Given the description of an element on the screen output the (x, y) to click on. 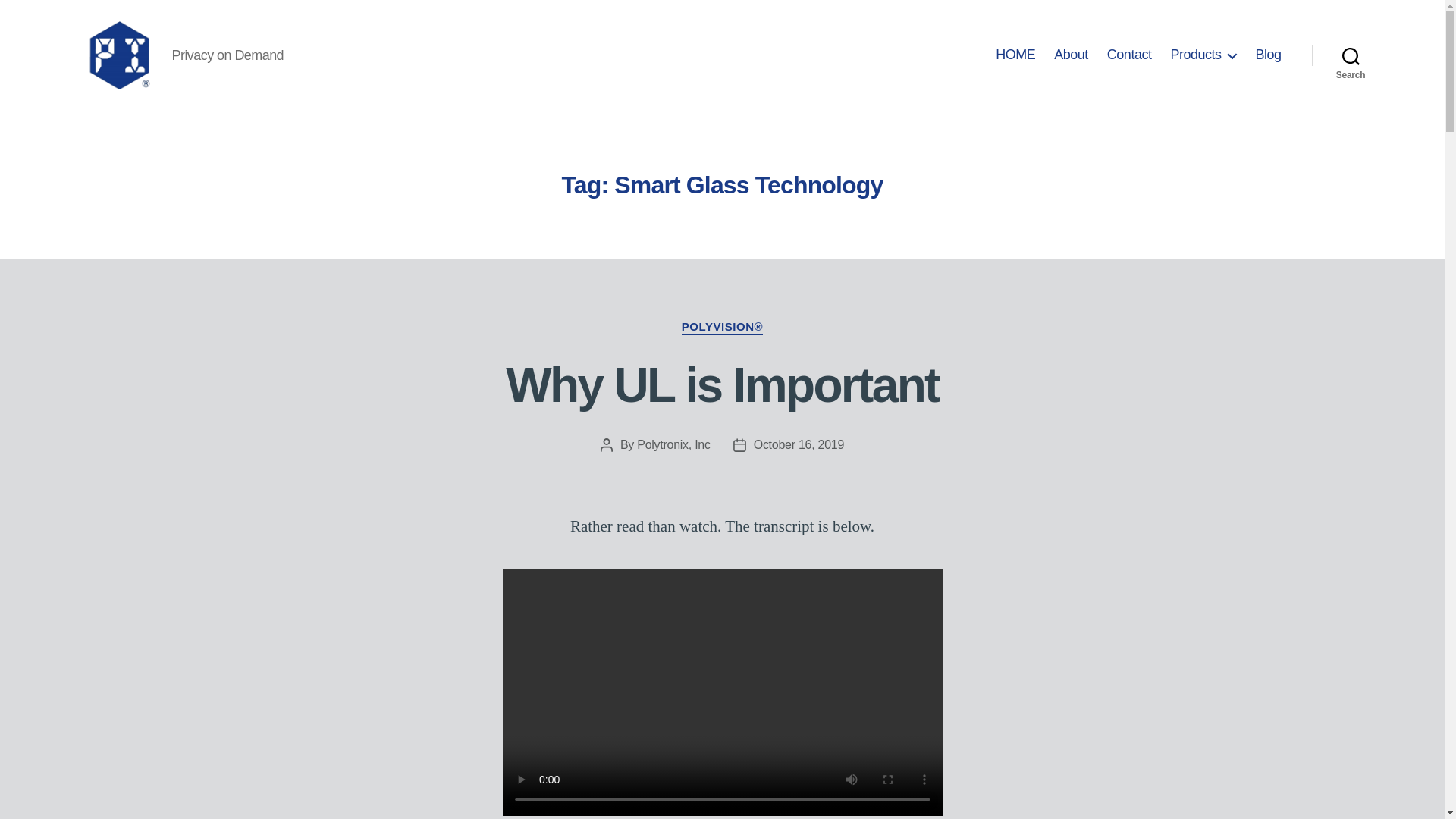
HOME (1015, 54)
October 16, 2019 (799, 444)
Blog (1268, 54)
Products (1203, 54)
Contact (1128, 54)
Why UL is Important (722, 384)
Polytronix, Inc (673, 444)
About (1070, 54)
Search (1350, 55)
